Given the description of an element on the screen output the (x, y) to click on. 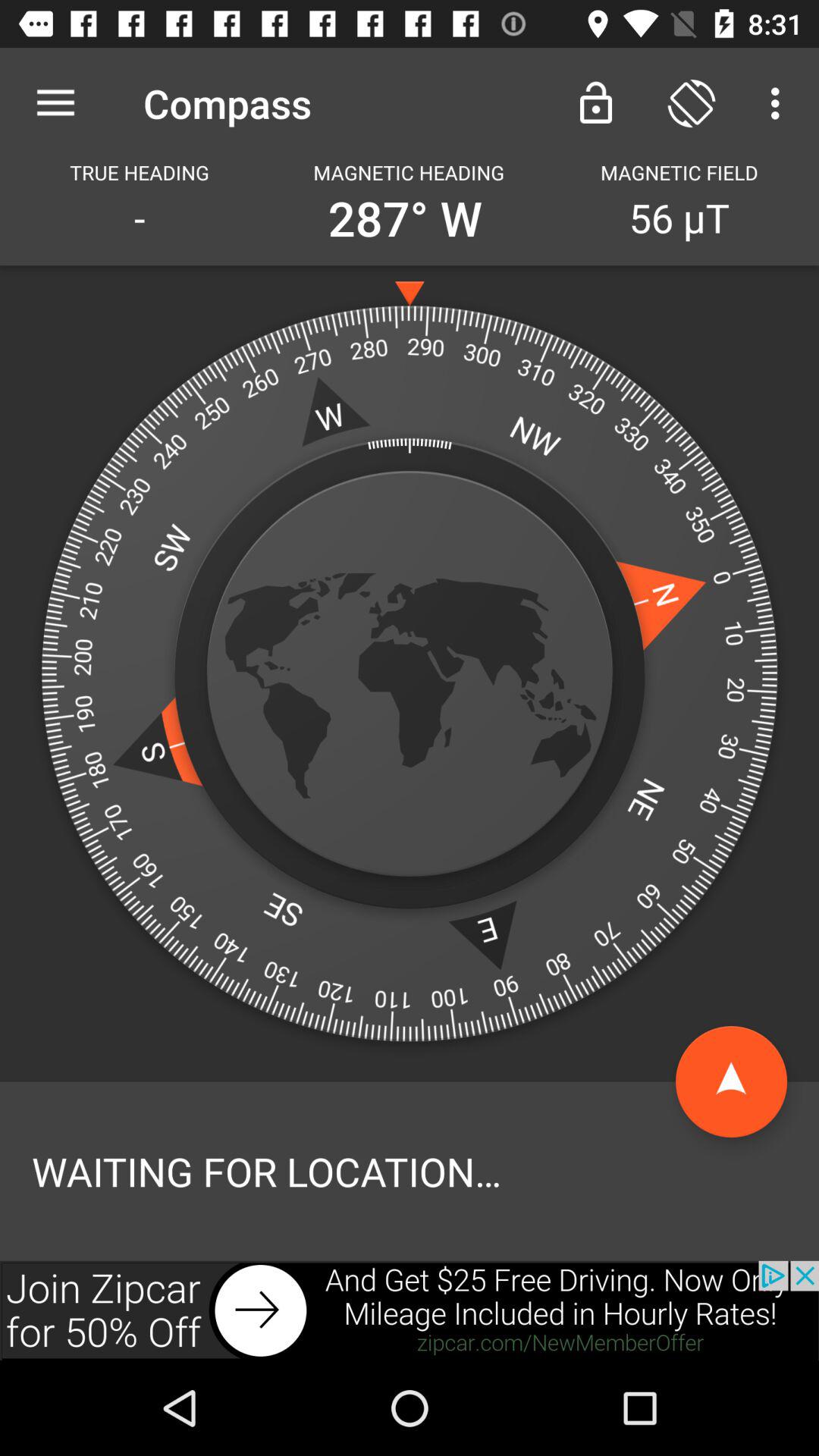
go to next (409, 1310)
